Given the description of an element on the screen output the (x, y) to click on. 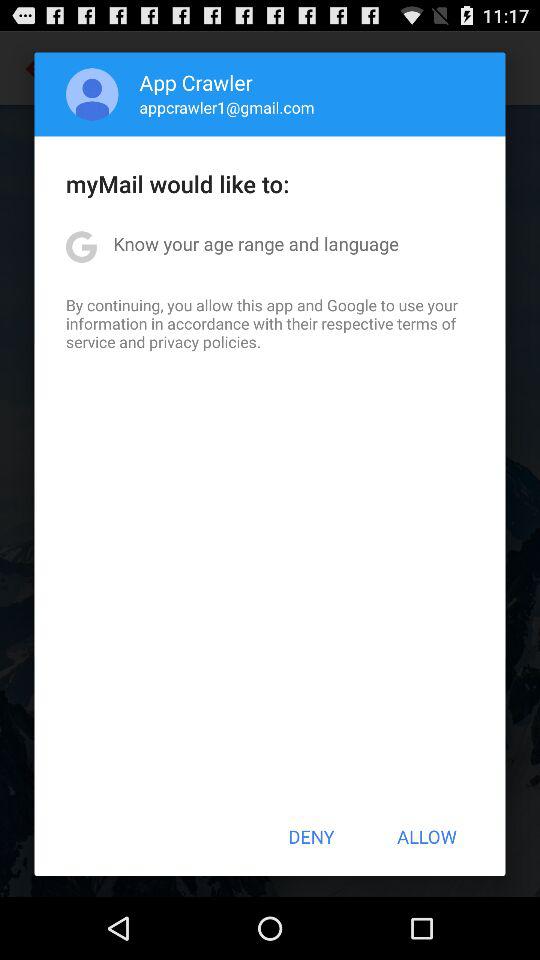
launch deny button (311, 836)
